Given the description of an element on the screen output the (x, y) to click on. 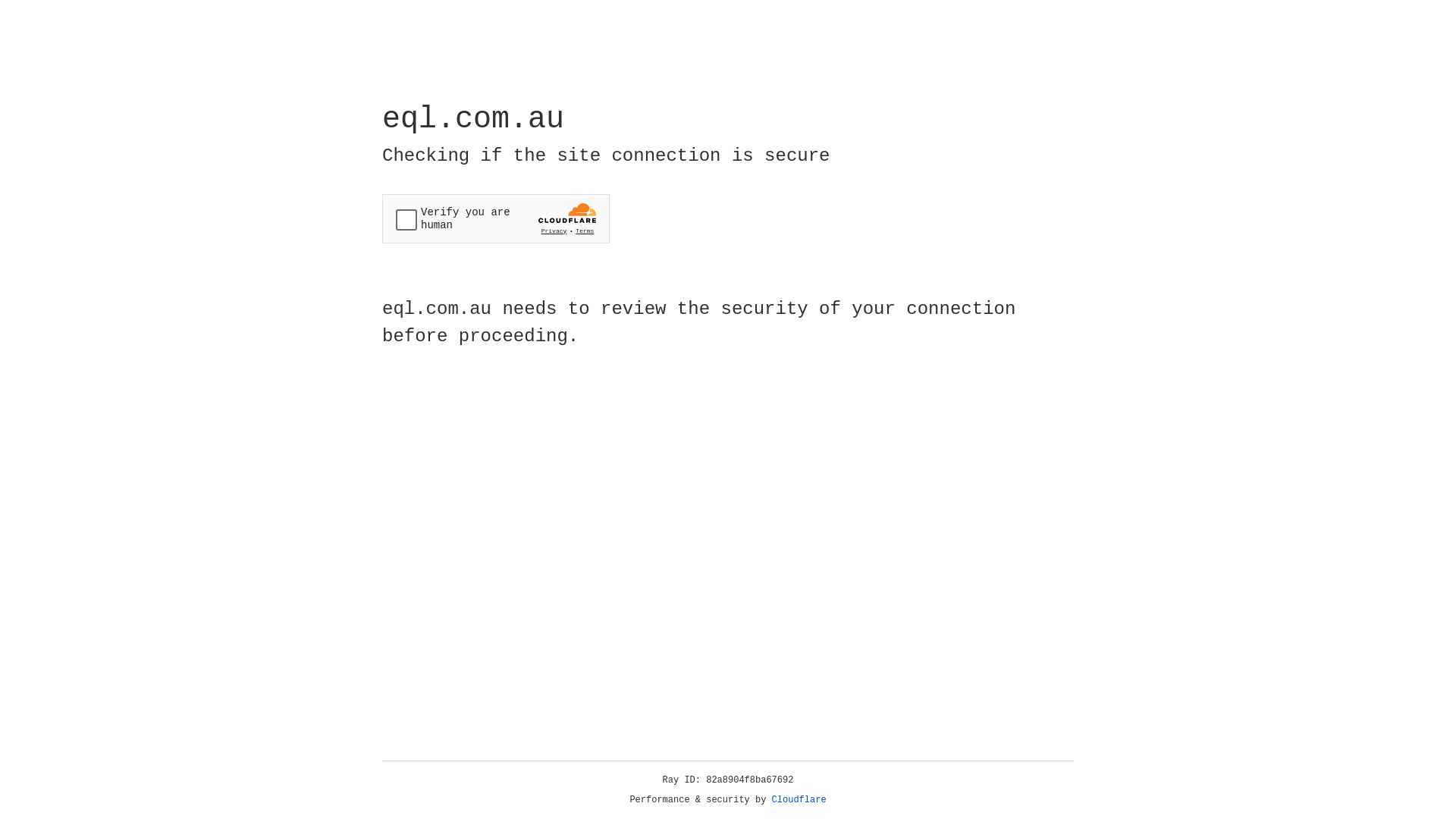
Cloudflare Element type: text (798, 799)
Widget containing a Cloudflare security challenge Element type: hover (495, 218)
